Given the description of an element on the screen output the (x, y) to click on. 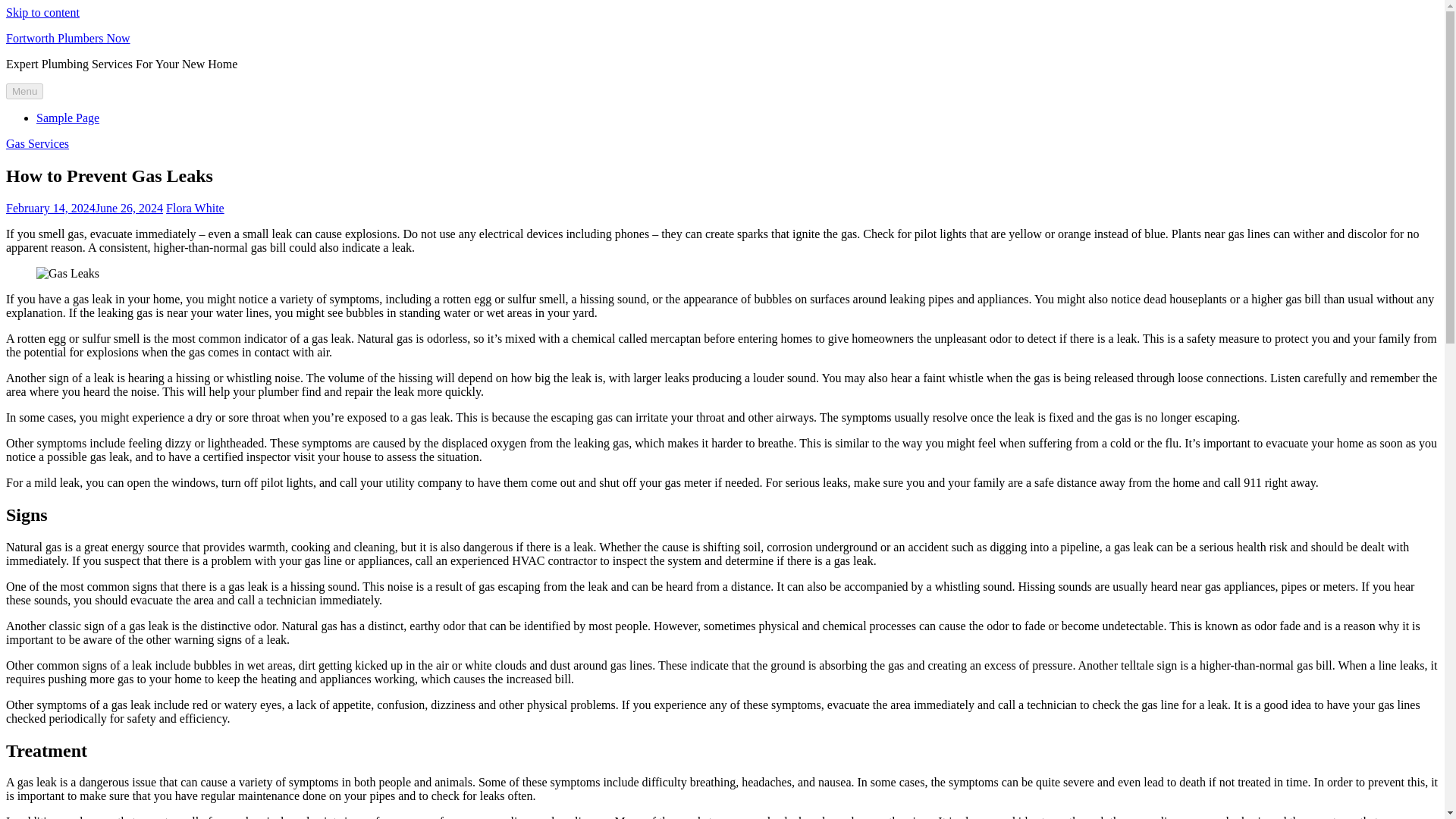
Fortworth Plumbers Now (68, 38)
Sample Page (67, 117)
Flora White (194, 207)
Gas Services (36, 143)
February 14, 2024June 26, 2024 (84, 207)
Menu (24, 91)
Skip to content (42, 11)
